Given the description of an element on the screen output the (x, y) to click on. 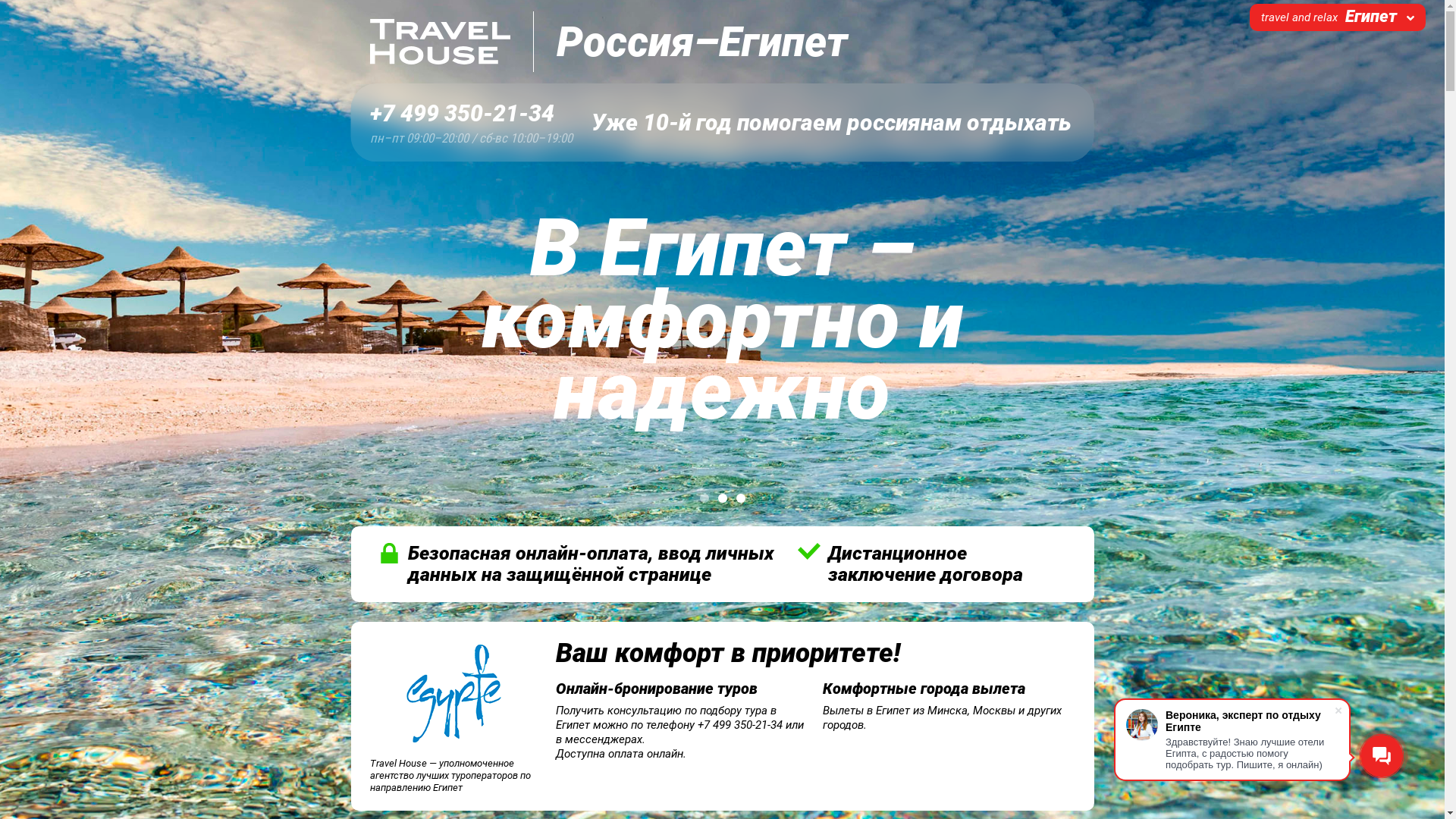
+7 499 350-21-34 Element type: text (471, 113)
Travel House Element type: text (441, 41)
